Given the description of an element on the screen output the (x, y) to click on. 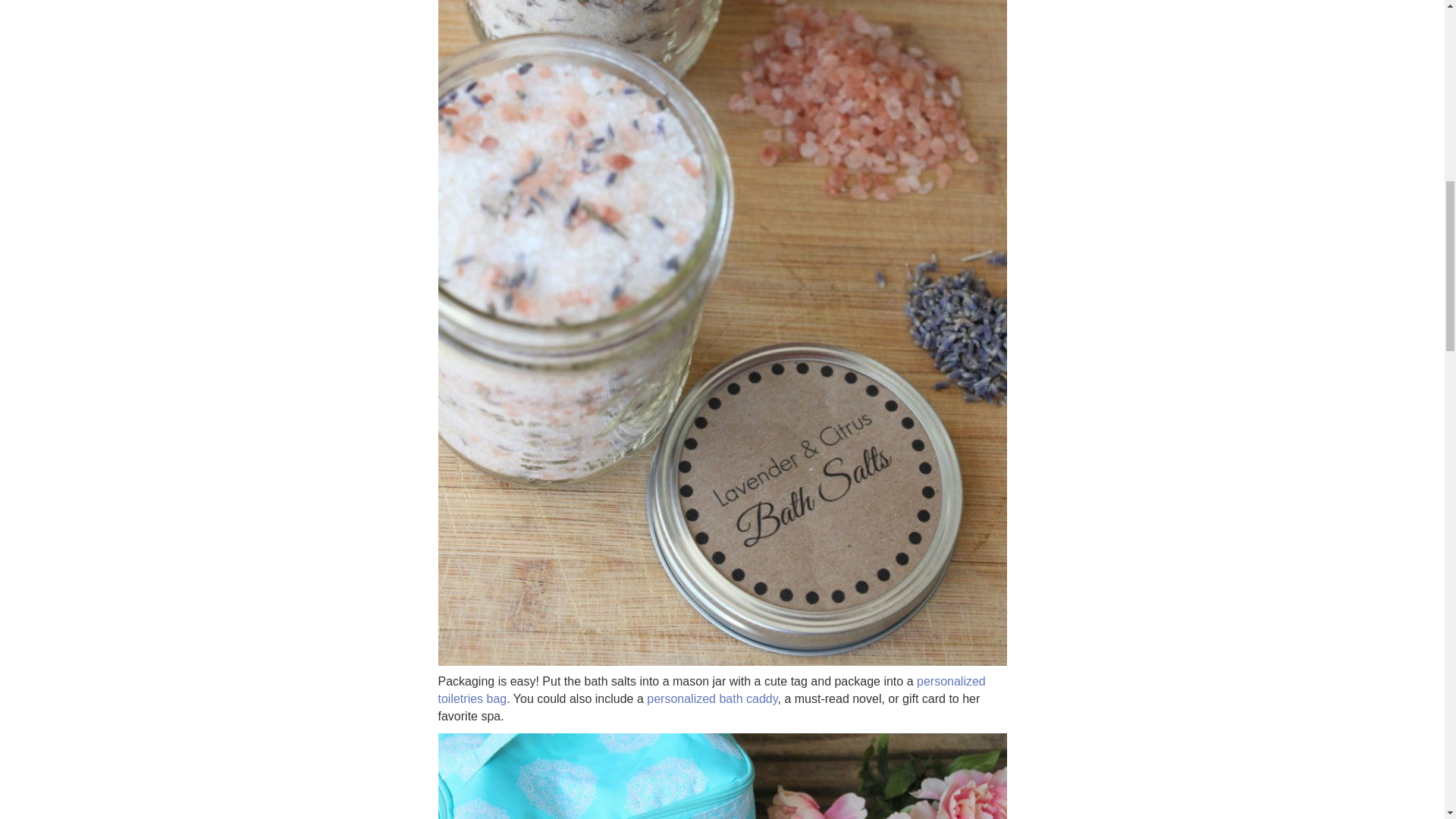
personalized bath caddy (711, 698)
personalized toiletries bag (711, 689)
